Given the description of an element on the screen output the (x, y) to click on. 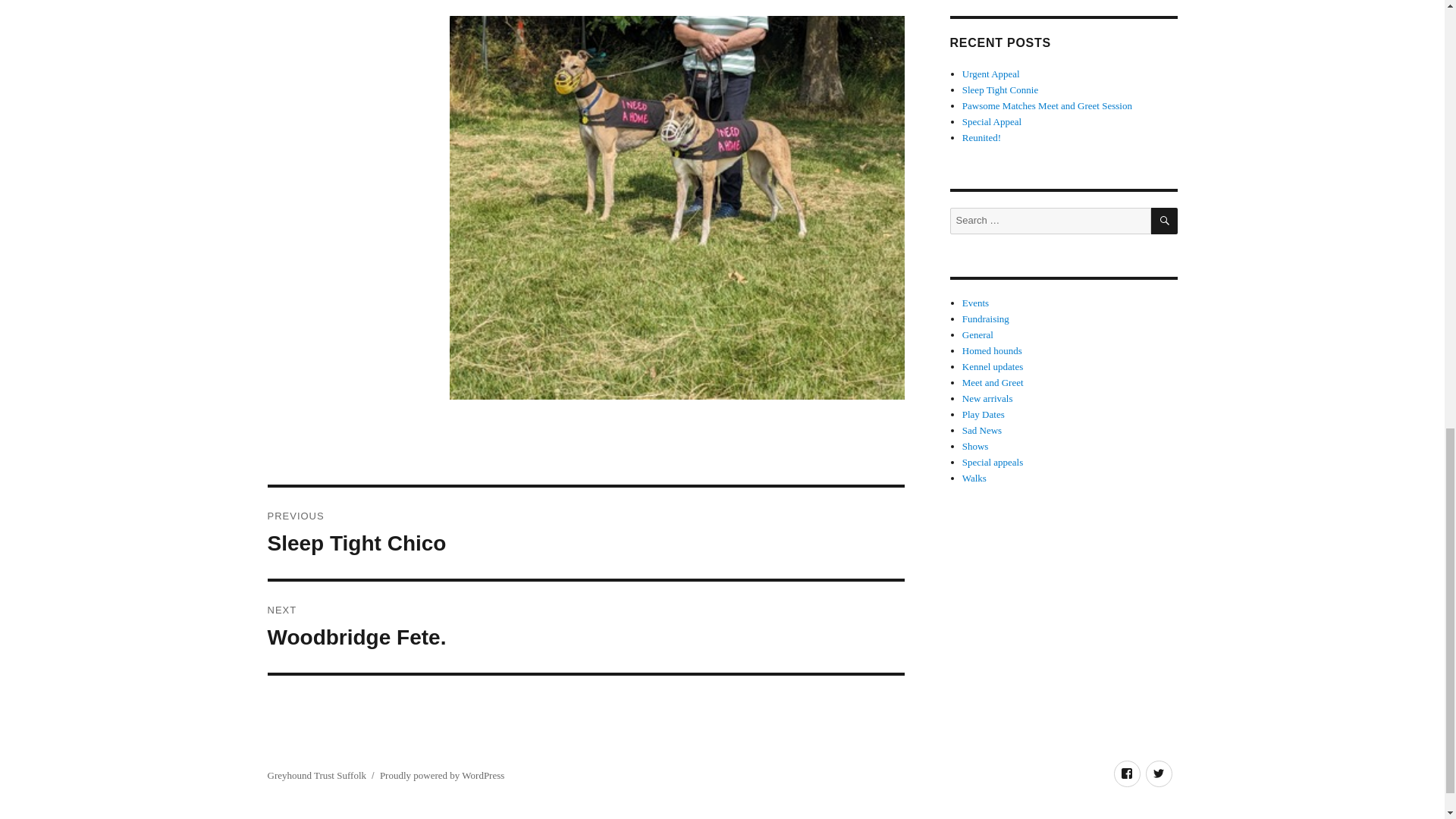
Search for: (1049, 221)
